Given the description of an element on the screen output the (x, y) to click on. 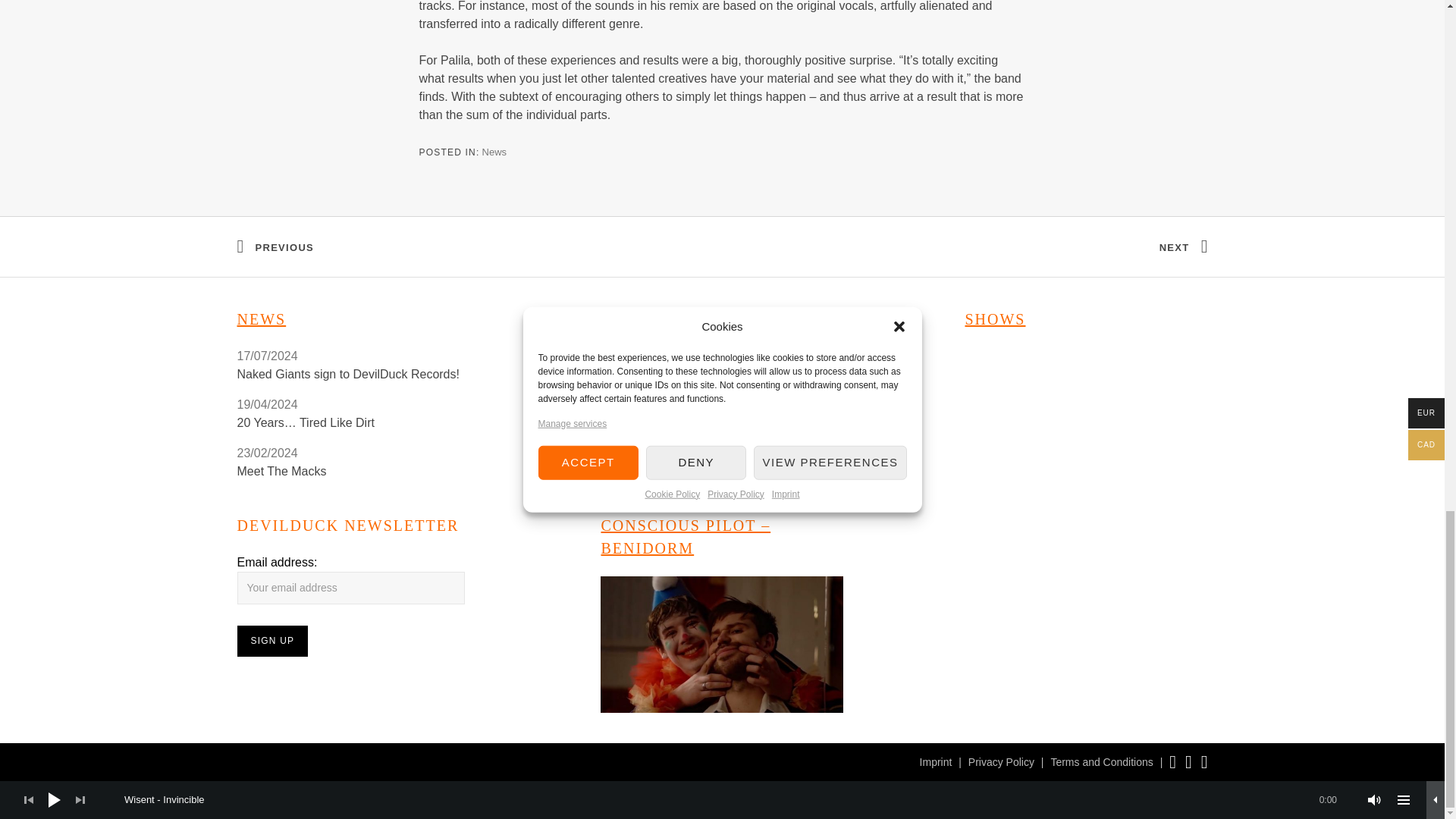
News (493, 152)
Naked Giants sign to DevilDuck Records! (357, 374)
NEWS (260, 319)
Sign up (271, 640)
